Given the description of an element on the screen output the (x, y) to click on. 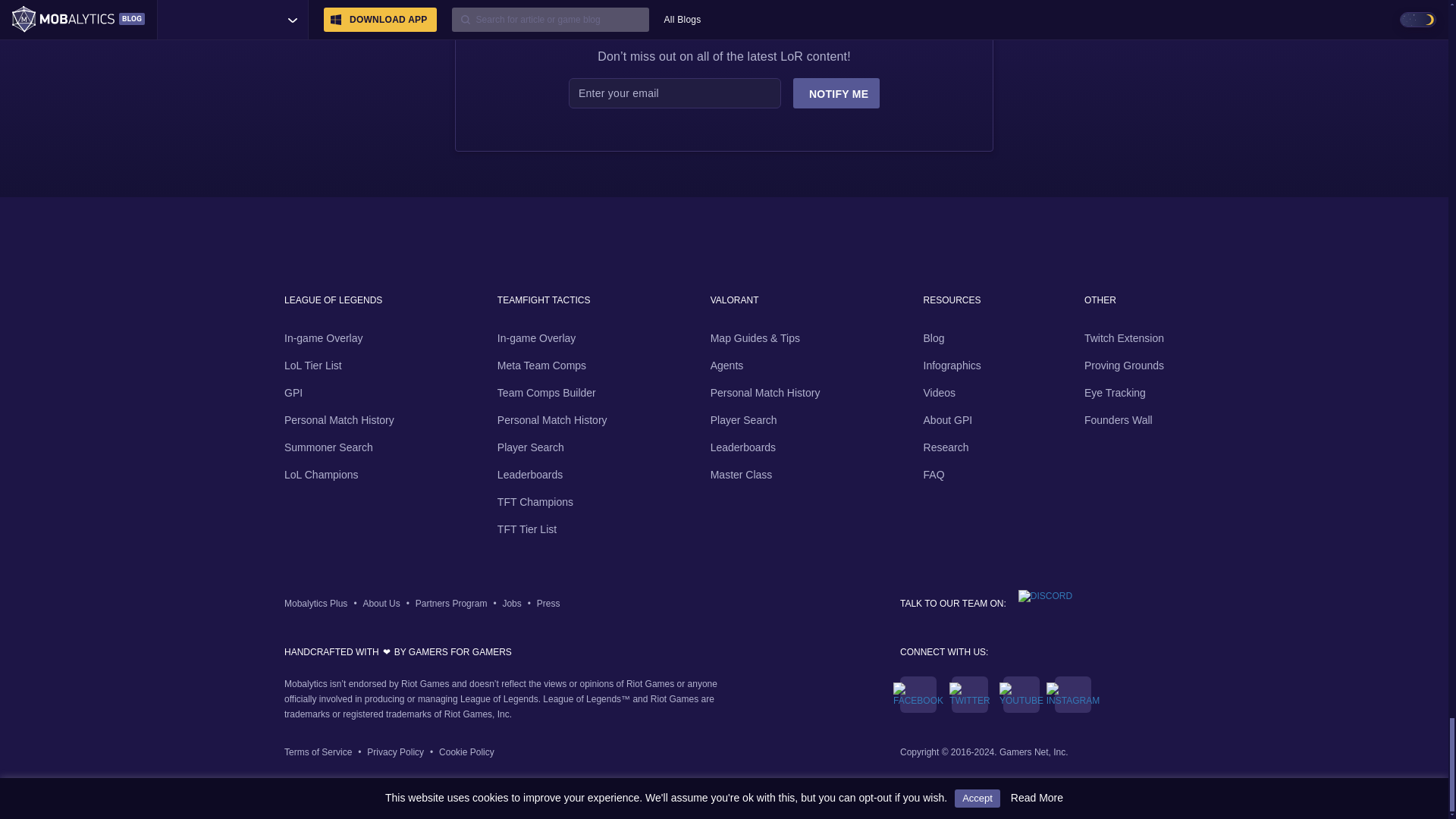
Discord (1038, 595)
Twitter (969, 694)
Facebook (918, 694)
Discord (1038, 599)
Notify Me (836, 92)
YouTube (1020, 694)
